Given the description of an element on the screen output the (x, y) to click on. 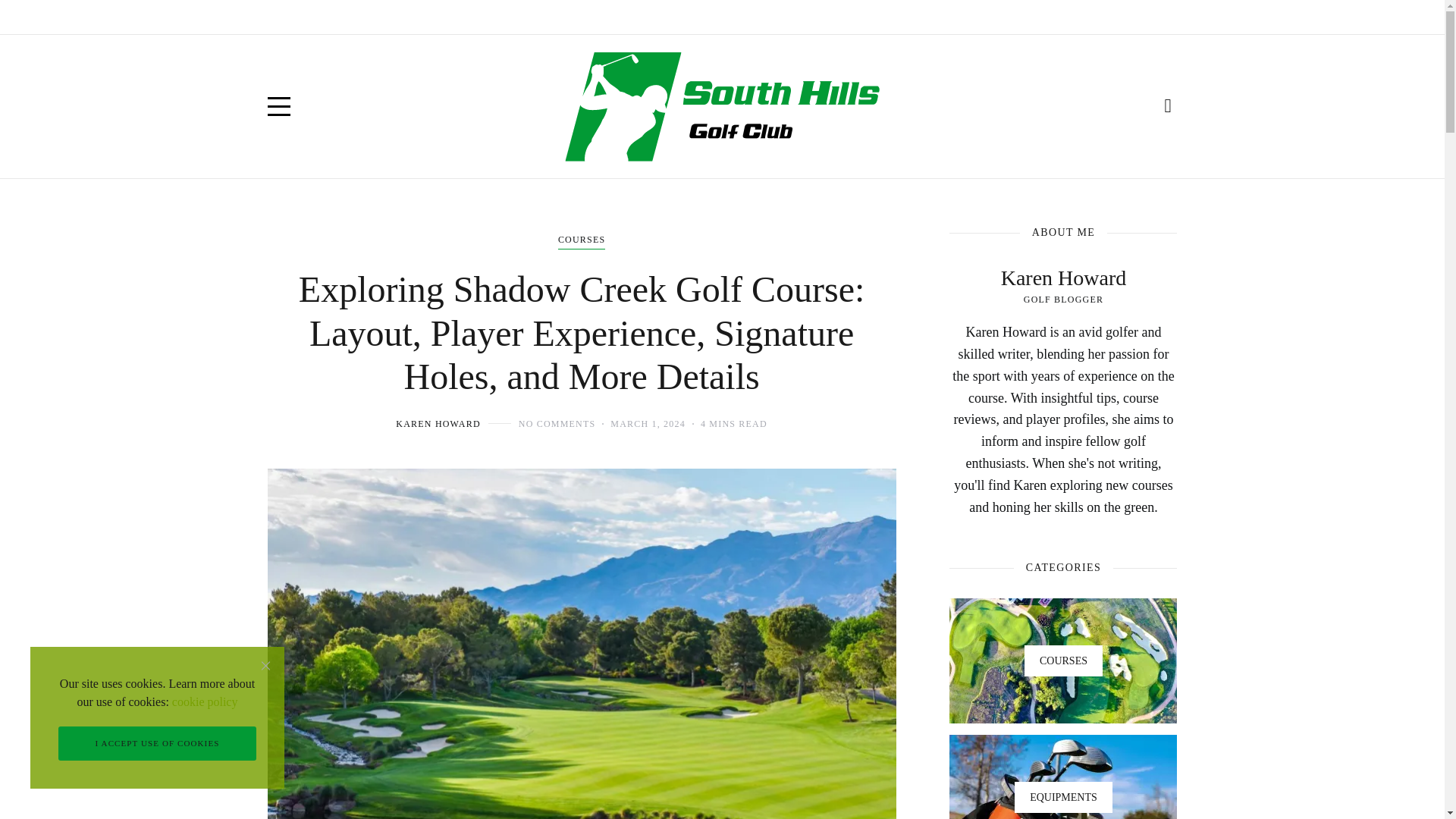
EQUIPMENTS (417, 17)
FITNESS AND HEALTH (970, 17)
TRAVEL AND DESTINATIONS (815, 17)
Twitter (1135, 16)
Categories (581, 240)
Facebook (1069, 16)
COURSES (340, 17)
COURSES (581, 240)
TIPS AND TECHNIQUES (532, 17)
KAREN HOWARD (438, 423)
HOME (283, 17)
NEWS AND UPDATES (668, 17)
Pinterest (1169, 16)
Instagram (1102, 16)
